Given the description of an element on the screen output the (x, y) to click on. 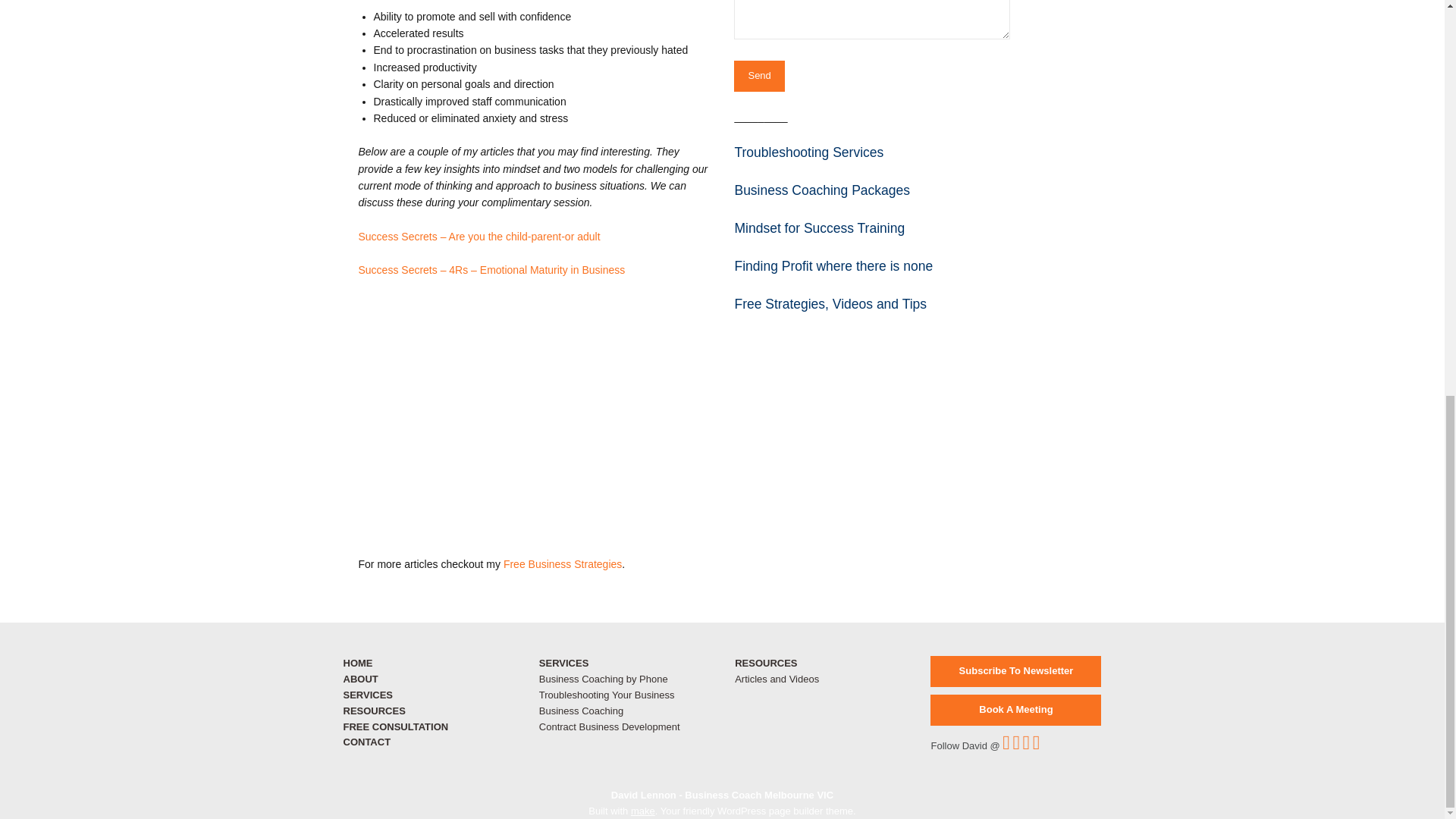
RESOURCES (373, 710)
HOME (357, 663)
Contract Business Development (608, 726)
Articles and Videos (776, 678)
Business Coaching (580, 710)
Send (758, 75)
Troubleshooting Services (808, 151)
SERVICES (367, 695)
Business Coaching by Phone (603, 678)
Send (758, 75)
Troubleshooting Your Business (606, 695)
FREE CONSULTATION (395, 726)
Free Strategies, Videos and Tips (829, 304)
ABOUT (359, 678)
Free Business Strategies (562, 563)
